Given the description of an element on the screen output the (x, y) to click on. 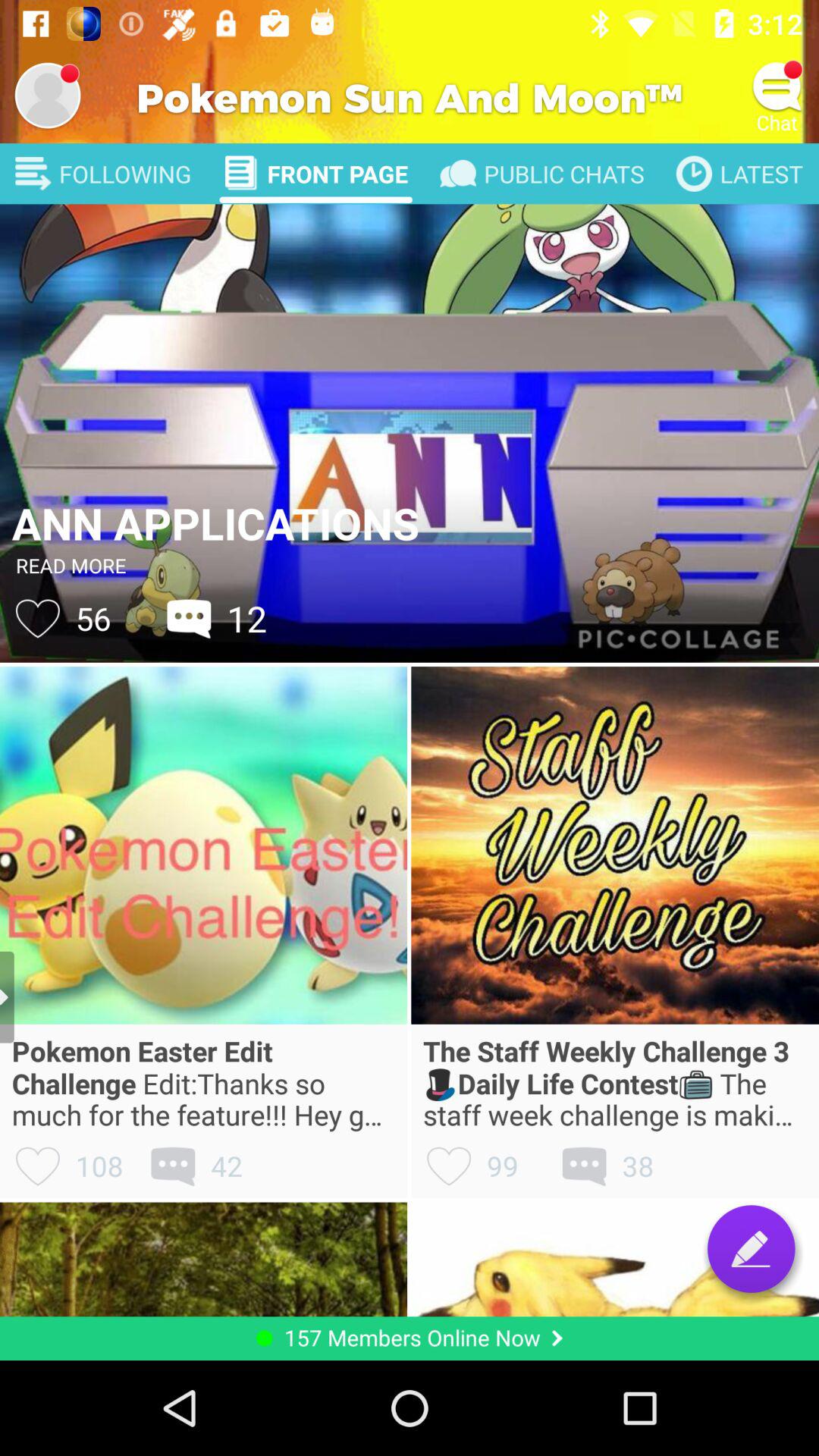
begin writing message review or recommendation (751, 1248)
